Given the description of an element on the screen output the (x, y) to click on. 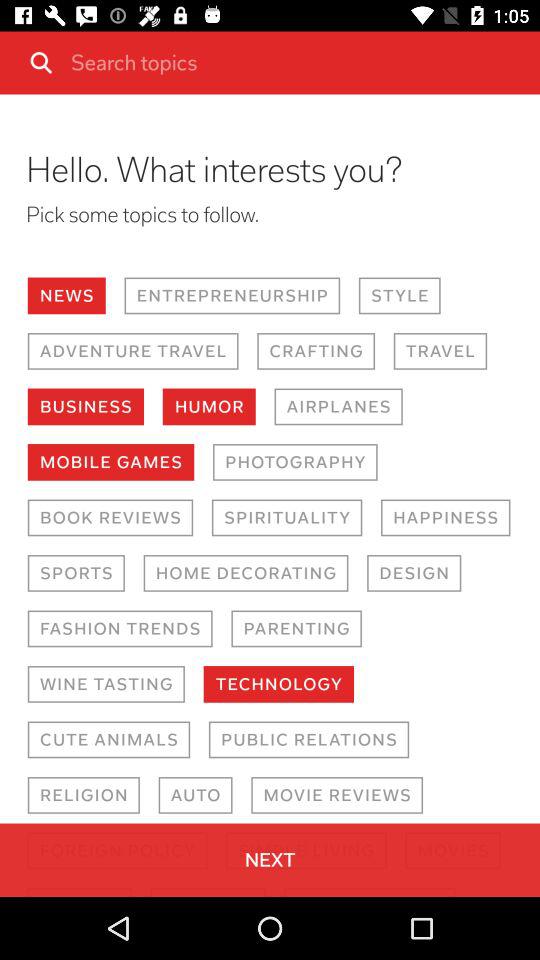
open item below cute animals icon (83, 794)
